Given the description of an element on the screen output the (x, y) to click on. 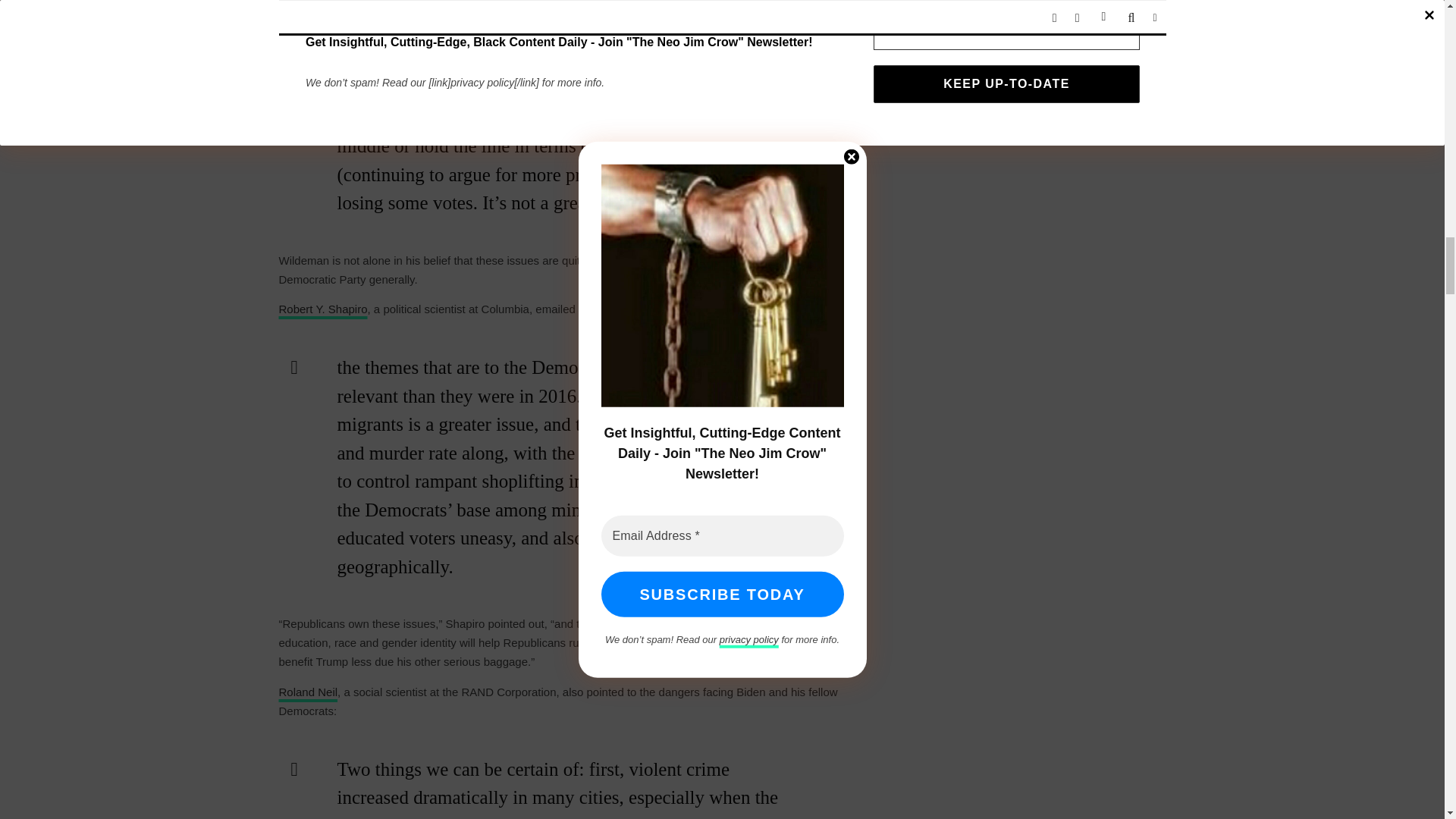
Roland Neil (308, 691)
Robert Y. Shapiro (323, 308)
